Given the description of an element on the screen output the (x, y) to click on. 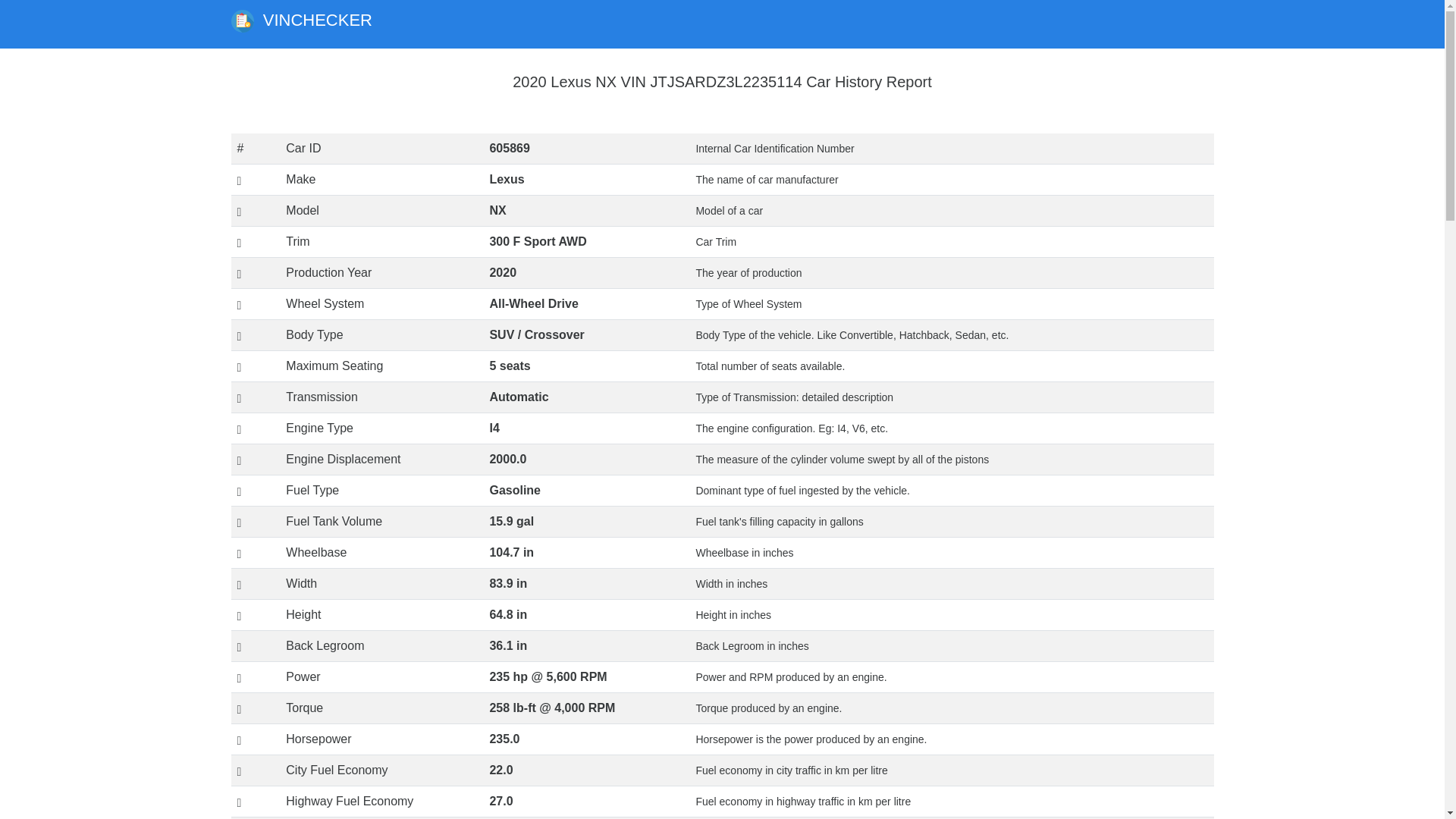
VinChecker.ME (241, 20)
VinChecker.ME (300, 23)
  VINCHECKER (300, 23)
